Given the description of an element on the screen output the (x, y) to click on. 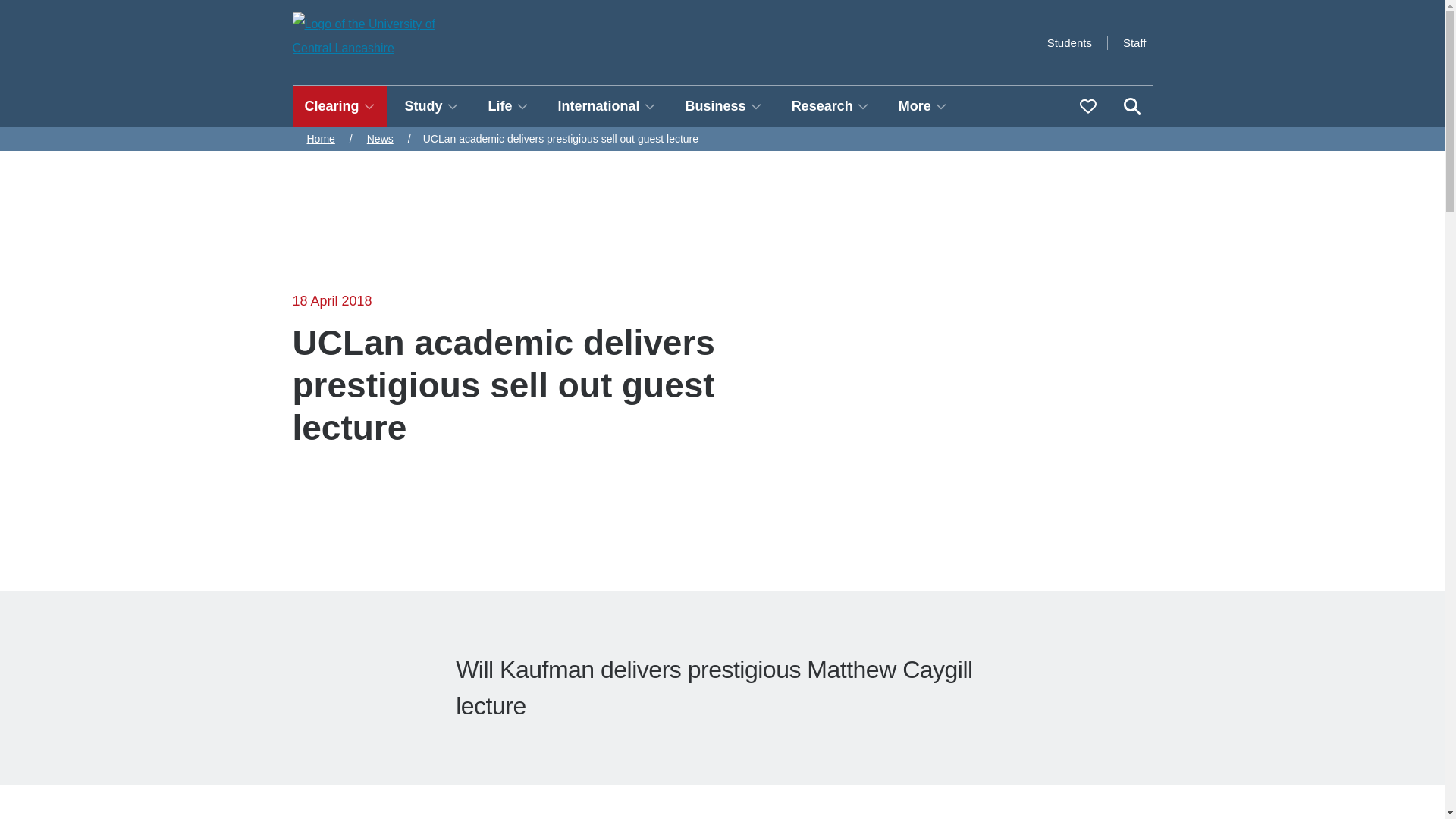
Staff (1134, 42)
Life (508, 105)
Study (431, 105)
Students (1069, 42)
Clearing (339, 105)
